Given the description of an element on the screen output the (x, y) to click on. 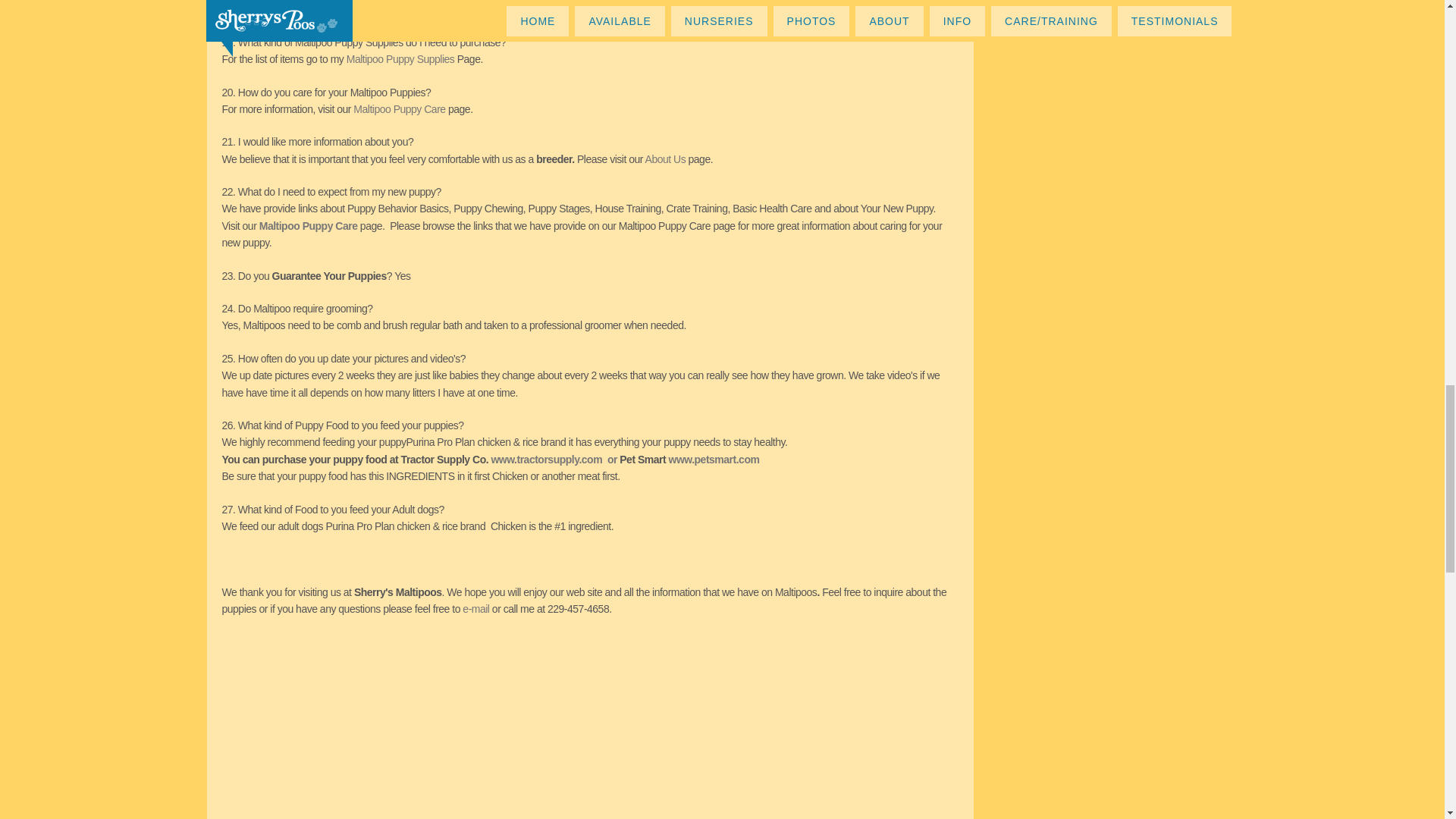
www.petsmart.com (714, 459)
www.tractorsupply.com  or (555, 459)
Maltipoo Puppy Care (309, 225)
Reserving A Maltipoo Puppy (350, 9)
Maltipoo Puppy Supplies (400, 59)
e-mail  (476, 608)
Maltipoo Puppy Care (399, 109)
About Us (666, 159)
